Given the description of an element on the screen output the (x, y) to click on. 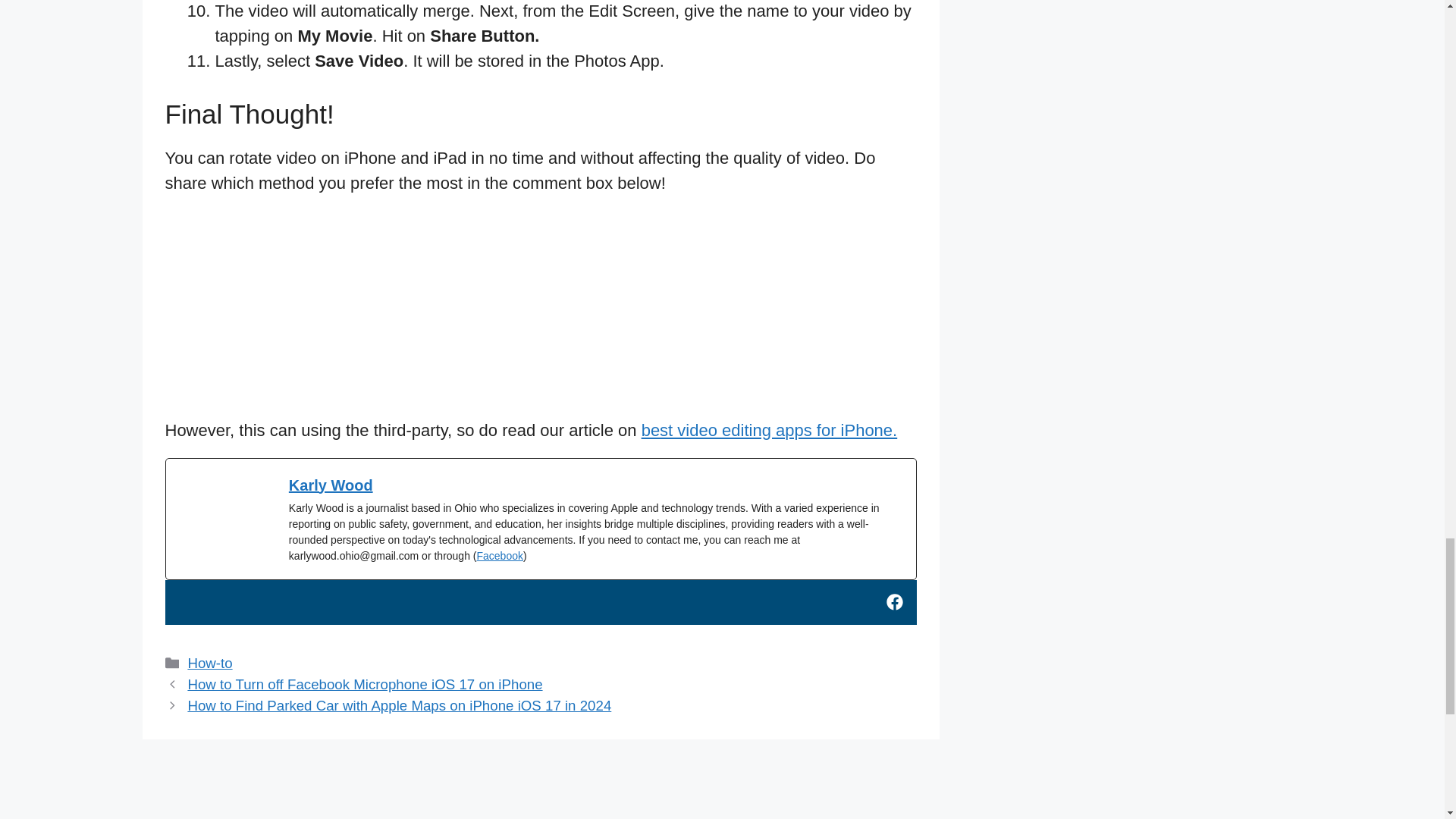
best video editing apps for iPhone. (770, 429)
Facebook (499, 555)
How-to (209, 662)
How to Turn off Facebook Microphone iOS 17 on iPhone (364, 684)
Karly Wood (330, 484)
